Given the description of an element on the screen output the (x, y) to click on. 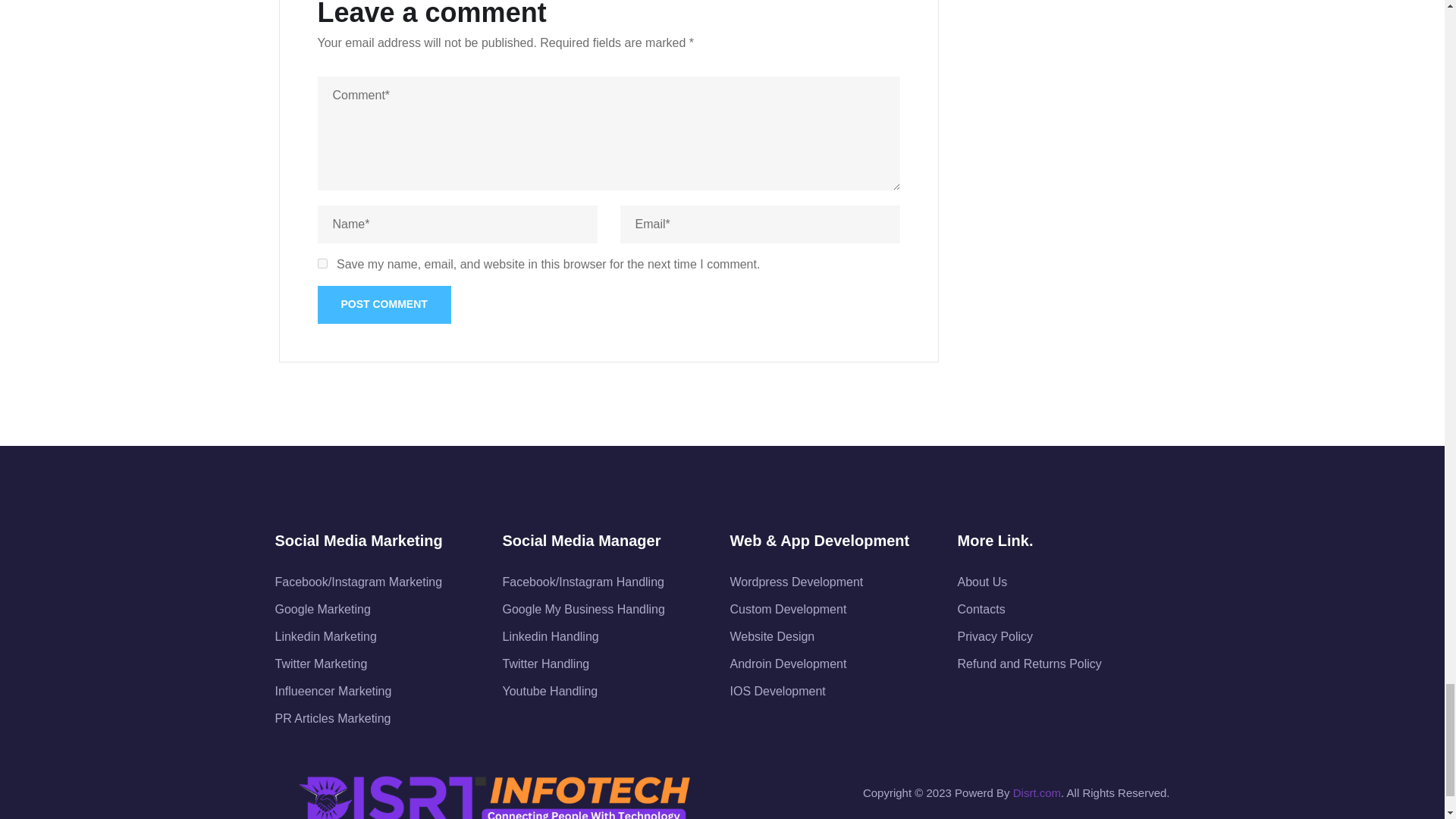
Post Comment (383, 304)
yes (321, 263)
